Given the description of an element on the screen output the (x, y) to click on. 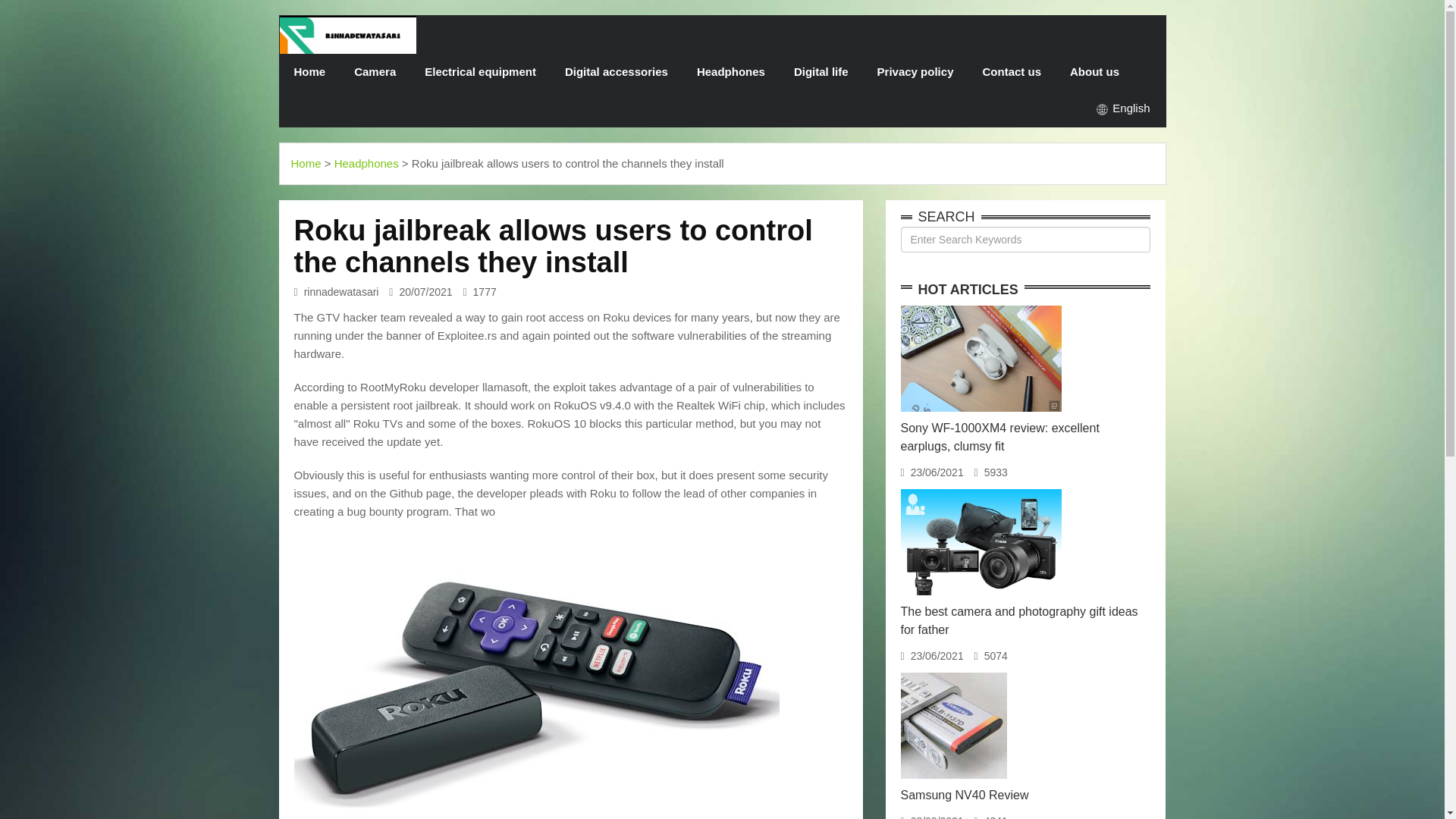
Home (306, 163)
About us (1094, 72)
Contact us (1011, 72)
The best camera and photography gift ideas for father (1019, 620)
Privacy policy (915, 72)
rinnadewatasari (347, 35)
Digital accessories (616, 72)
Privacy policy (915, 72)
Electrical equipment (480, 72)
Digital accessories (616, 72)
